Given the description of an element on the screen output the (x, y) to click on. 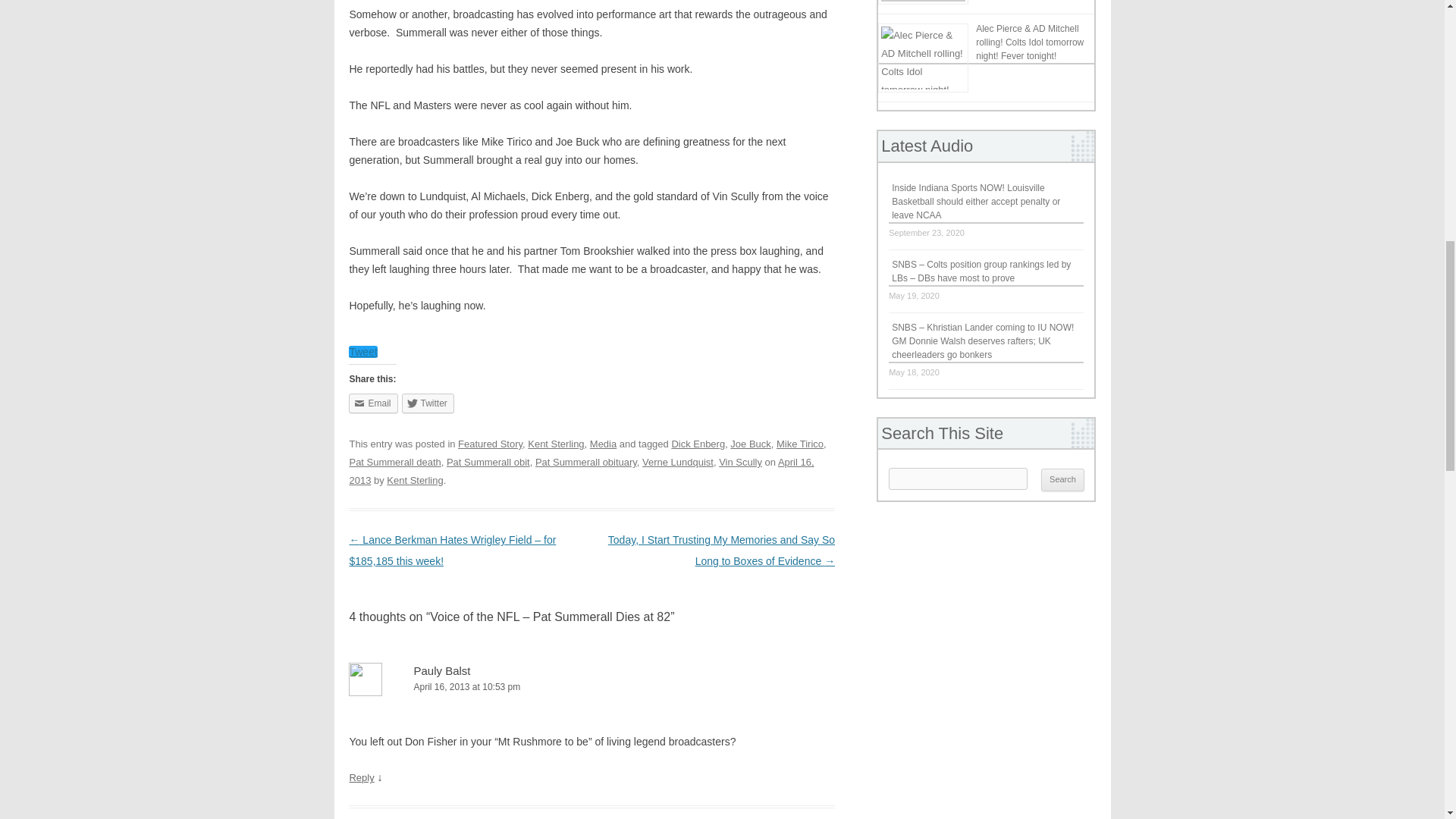
Mike Tirico (800, 443)
Pat Summerall obit (487, 461)
Pat Summerall death (395, 461)
Search (1062, 479)
Reply (361, 777)
April 16, 2013 at 10:53 pm (591, 687)
Pat Summerall obituary (586, 461)
Vin Scully (740, 461)
Media (602, 443)
